Given the description of an element on the screen output the (x, y) to click on. 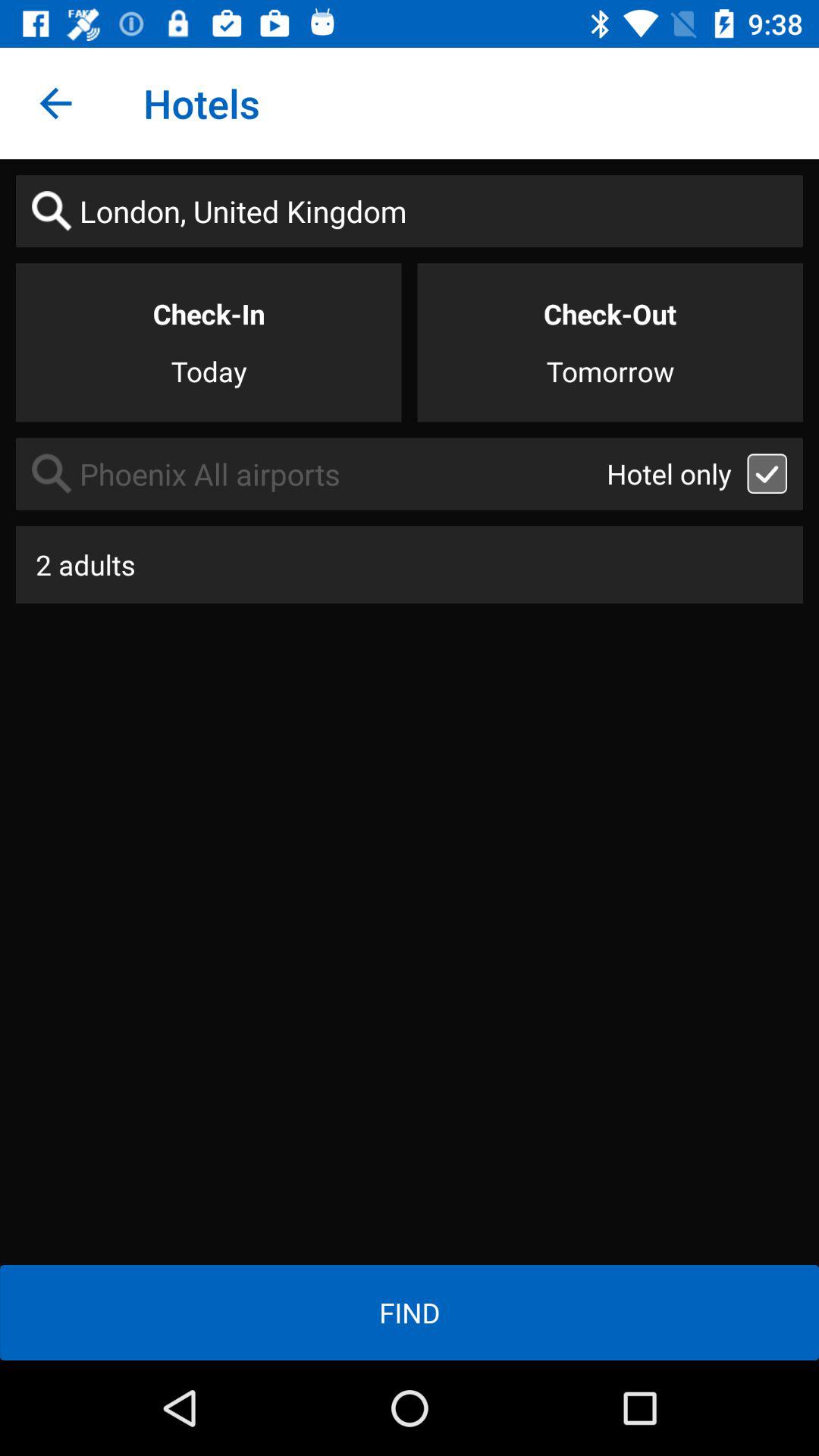
flip until the phoenix all airports (310, 473)
